Given the description of an element on the screen output the (x, y) to click on. 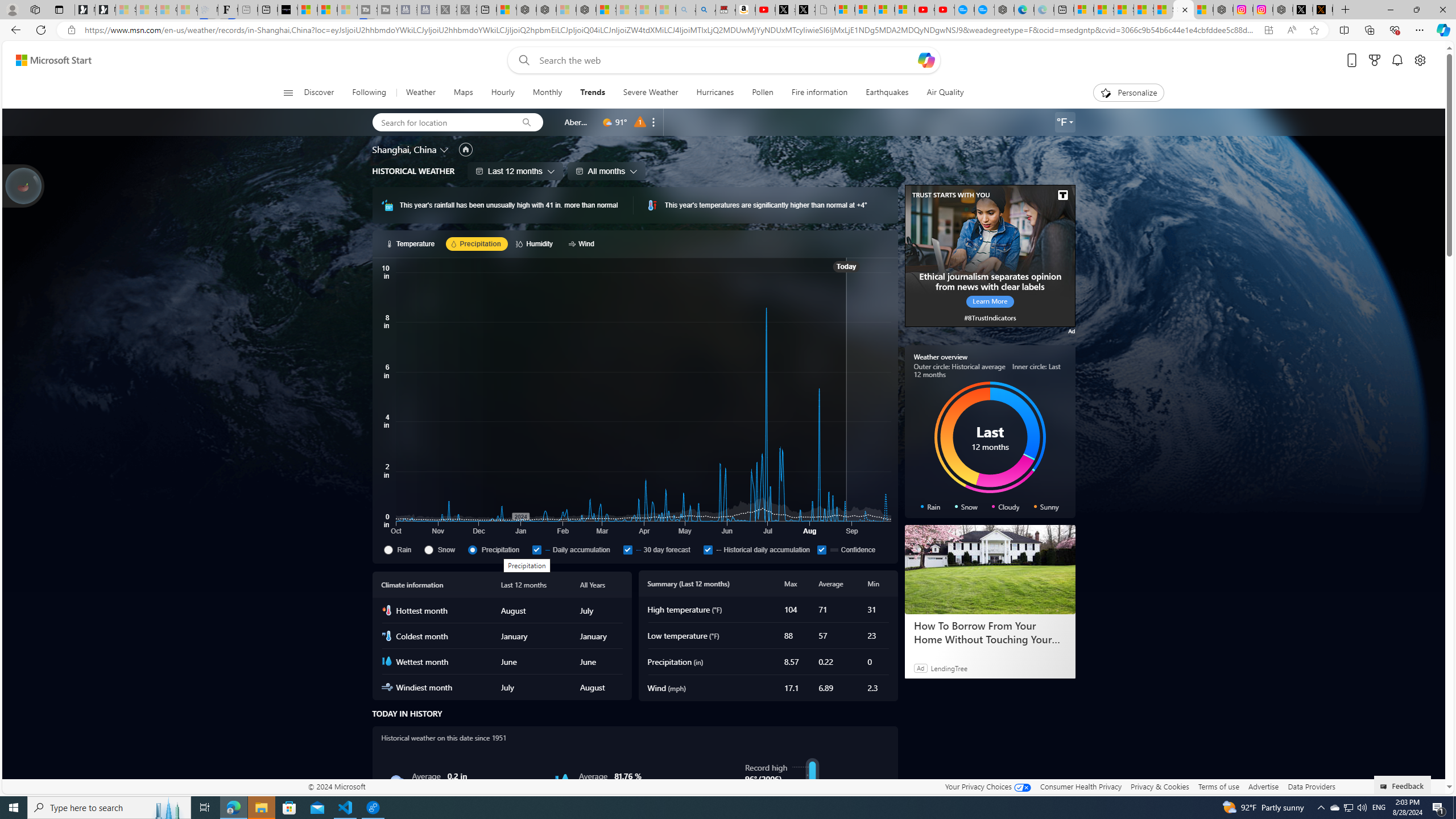
Temperature (411, 243)
Monthly (547, 92)
Confidence (851, 549)
Class: button-glyph (287, 92)
Personalize (1128, 92)
Remove location (653, 122)
Humidity (562, 781)
Nordace - Nordace Siena Is Not An Ordinary Backpack (586, 9)
Rain (387, 549)
